Given the description of an element on the screen output the (x, y) to click on. 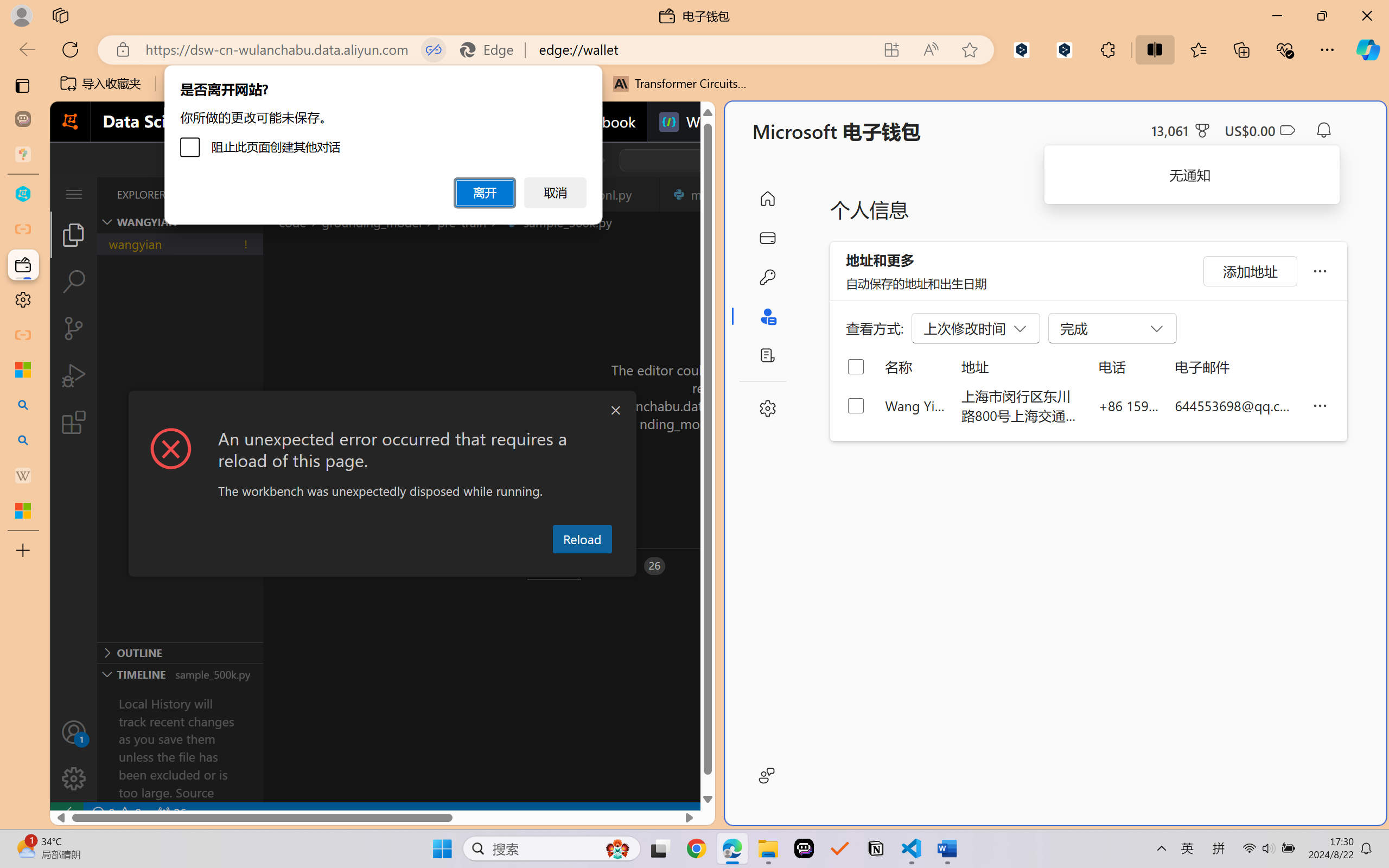
Problems (Ctrl+Shift+M) (308, 565)
Run and Debug (Ctrl+Shift+D) (73, 375)
Terminal (Ctrl+`) (553, 565)
Explorer (Ctrl+Shift+E) (73, 234)
Class: ___1lmltc5 f1agt3bx f12qytpq (1286, 130)
Class: actions-container (381, 410)
644553698@qq.com (1235, 405)
Timeline Section (179, 673)
